Given the description of an element on the screen output the (x, y) to click on. 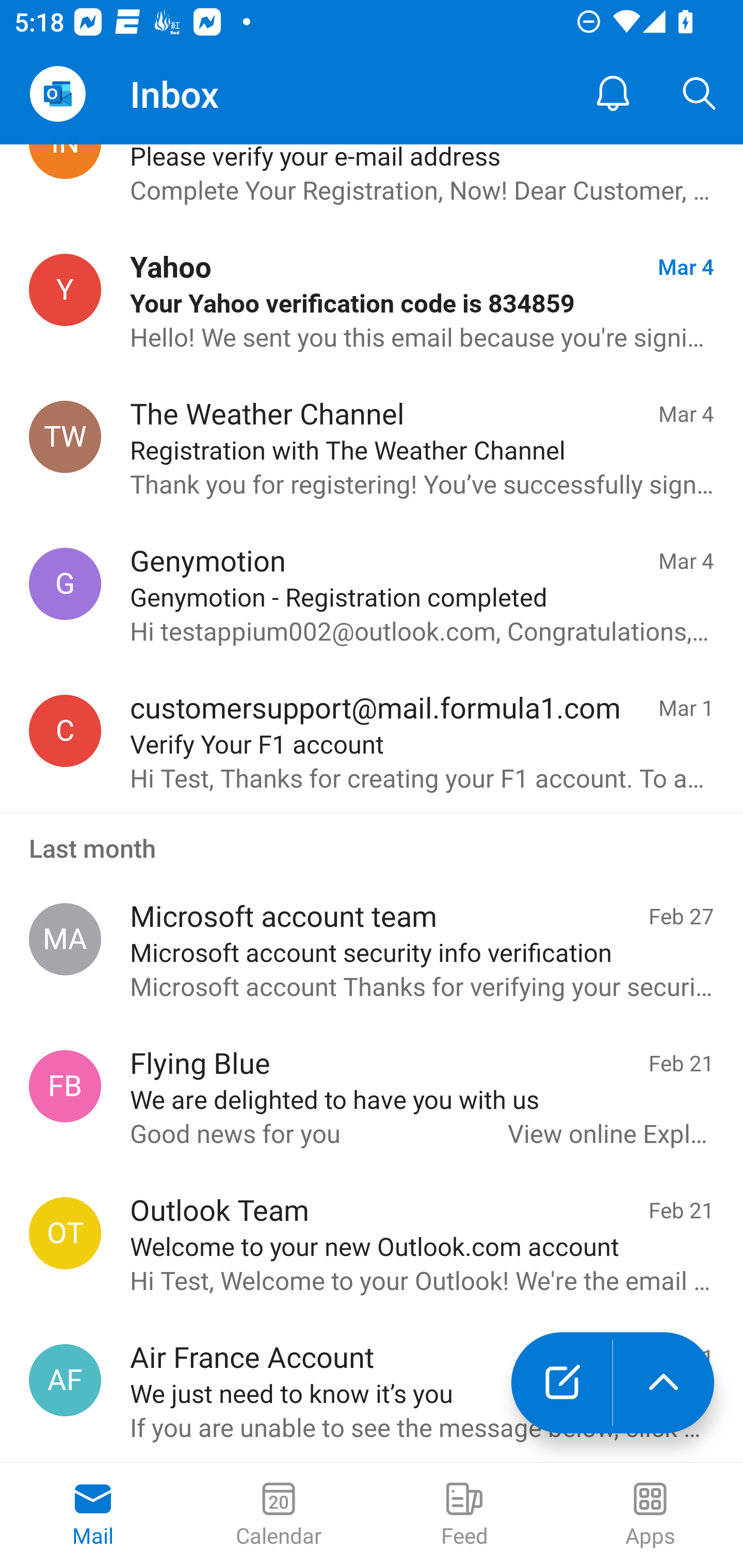
Notification Center (612, 93)
Search, ,  (699, 93)
Open Navigation Drawer (57, 94)
Yahoo, no-reply@cc.yahoo-inc.com (64, 290)
The Weather Channel, noreply@weather.com (64, 437)
Genymotion, genymotion-activation@genymobile.com (64, 583)
Flying Blue, do_not_reply@info-flyingblue.com (64, 1086)
Outlook Team, no-reply@microsoft.com (64, 1233)
New mail (561, 1382)
launch the extended action menu (663, 1382)
Air France Account, account@infos-airfrance.com (64, 1379)
Calendar (278, 1515)
Feed (464, 1515)
Apps (650, 1515)
